Given the description of an element on the screen output the (x, y) to click on. 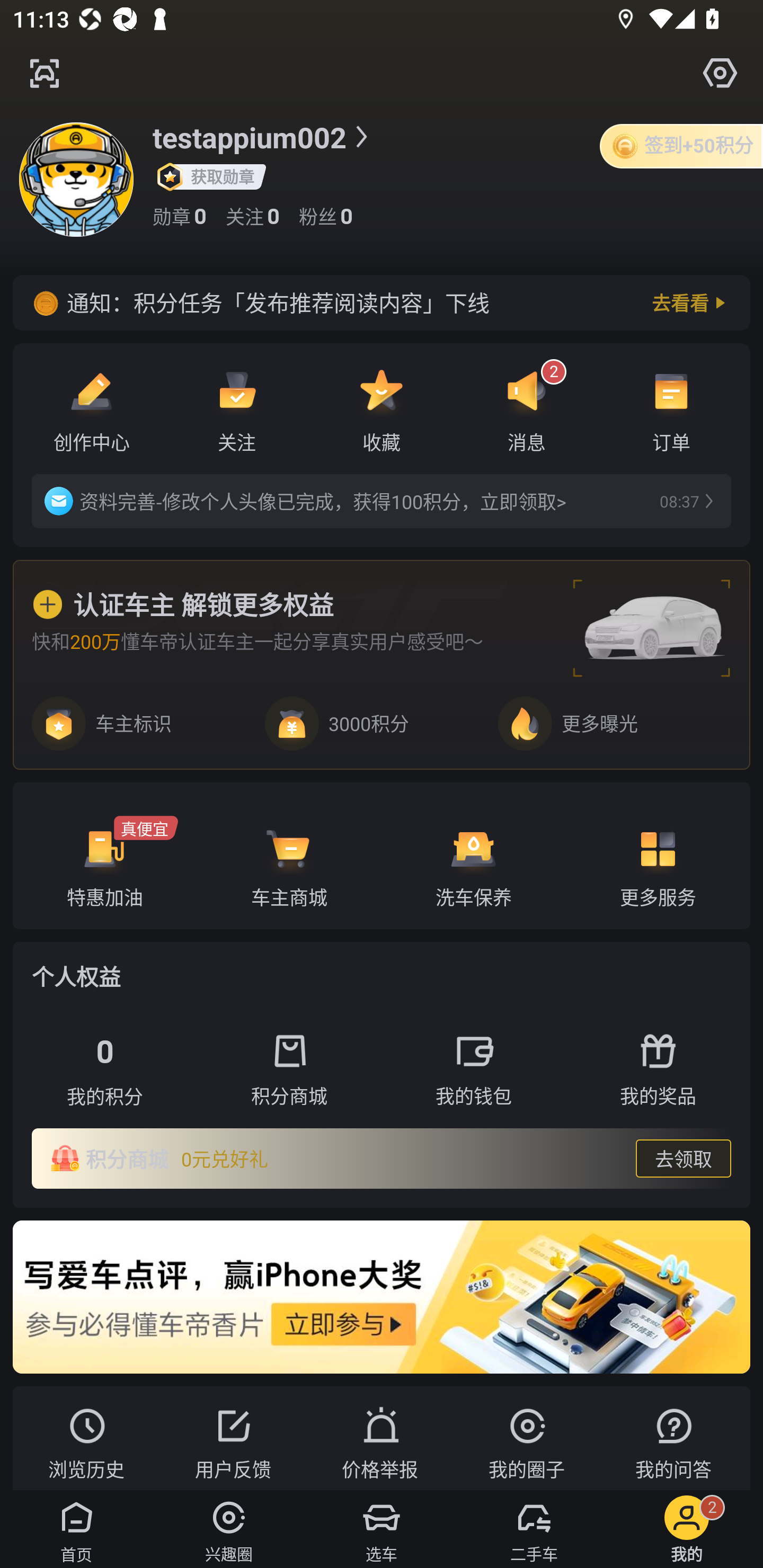
 (720, 72)
 (44, 73)
testappium002 (263, 136)
签到+50积分 (681, 145)
获取勋章 (217, 176)
勋章 0 (179, 215)
关注 0 (252, 215)
粉丝 0 (325, 215)
通知：积分任务「发布推荐阅读内容」下线 去看看  (381, 302)
创作中心 (91, 408)
关注 (236, 408)
收藏 (381, 408)
2 消息 (525, 408)
订单 (670, 408)
资料完善-修改个人头像已完成，获得100积分，立即领取> 08:37  (381, 500)
真便宜 特惠加油 (104, 855)
车主商城 (288, 855)
洗车保养 (473, 855)
更多服务 (658, 855)
0 我的积分 (104, 1069)
积分商城 (288, 1069)
我的钱包 (473, 1069)
我的奖品 (658, 1069)
积分商城 0元兑好礼 去领取 (381, 1158)
浏览历史 (85, 1437)
用户反馈 (232, 1437)
价格举报 (379, 1437)
我的圈子 (526, 1437)
我的问答 (672, 1437)
 首页 (76, 1528)
 兴趣圈 (228, 1528)
 选车 (381, 1528)
 二手车 (533, 1528)
我的 (686, 1528)
